Given the description of an element on the screen output the (x, y) to click on. 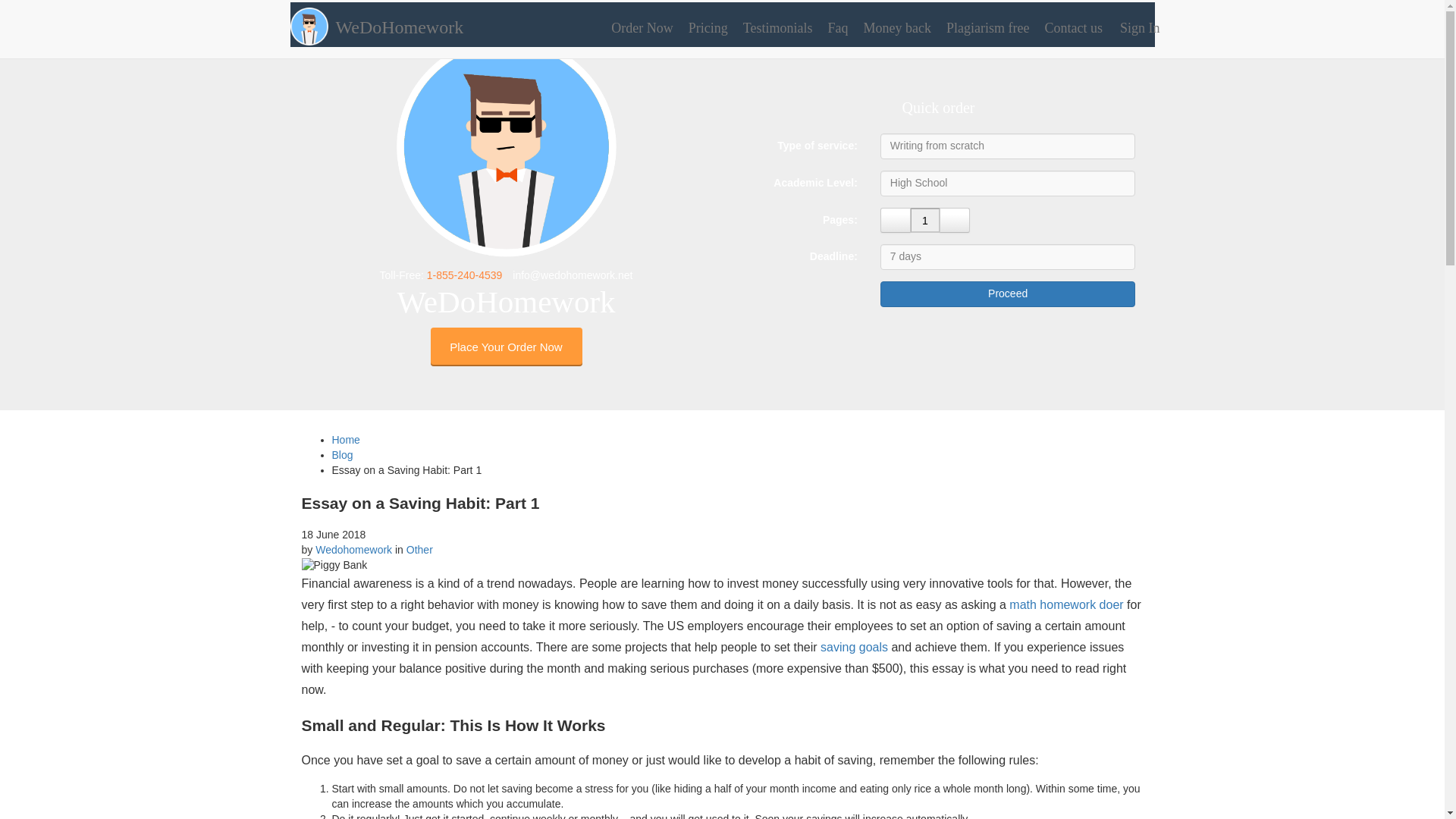
Pricing (706, 27)
WeDoHomework (390, 21)
Place Your Order Now (506, 346)
 Piggy Bank (721, 565)
Sign In (1137, 27)
Faq (836, 27)
Testimonials (775, 27)
1 (925, 220)
Blog (342, 454)
Plagiarism free (986, 27)
Contact us (1071, 27)
Order Now (640, 27)
Other (419, 549)
saving goals (854, 646)
math homework doer (1065, 604)
